Given the description of an element on the screen output the (x, y) to click on. 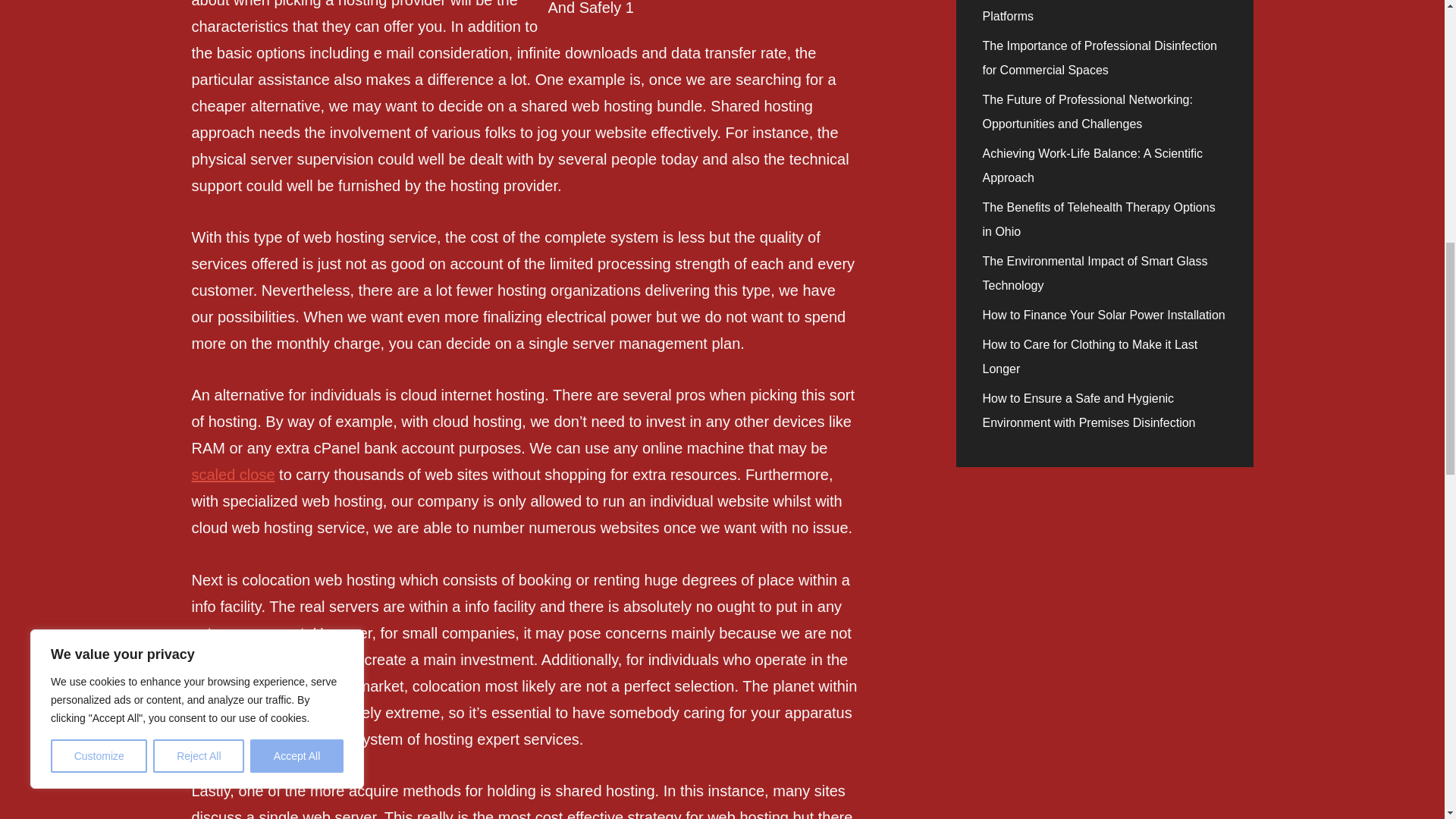
scaled close (232, 474)
Ensuring the Legitimacy of Online Gambling Platforms (1101, 11)
